Given the description of an element on the screen output the (x, y) to click on. 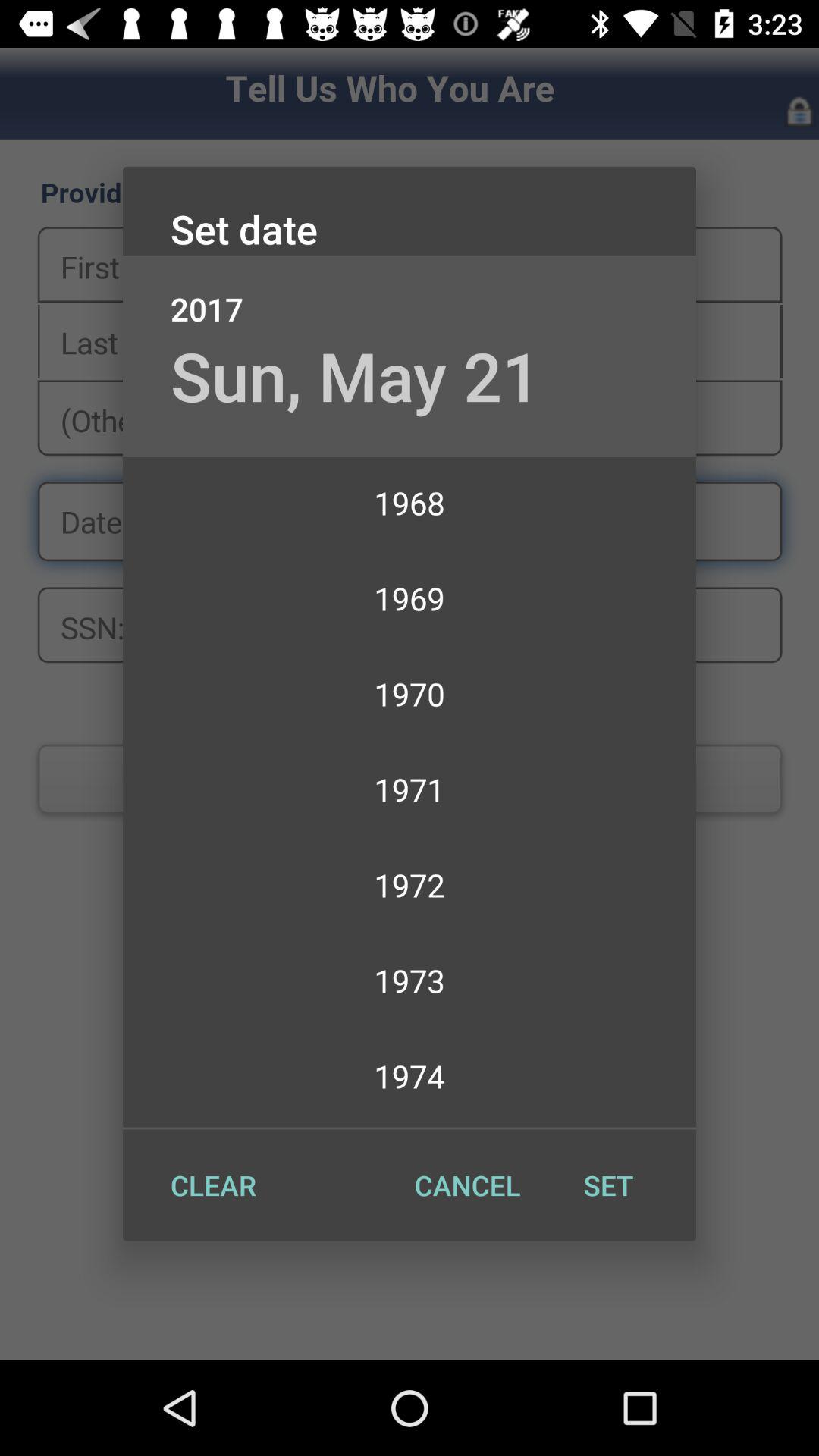
turn off the item above 1968 item (355, 375)
